Given the description of an element on the screen output the (x, y) to click on. 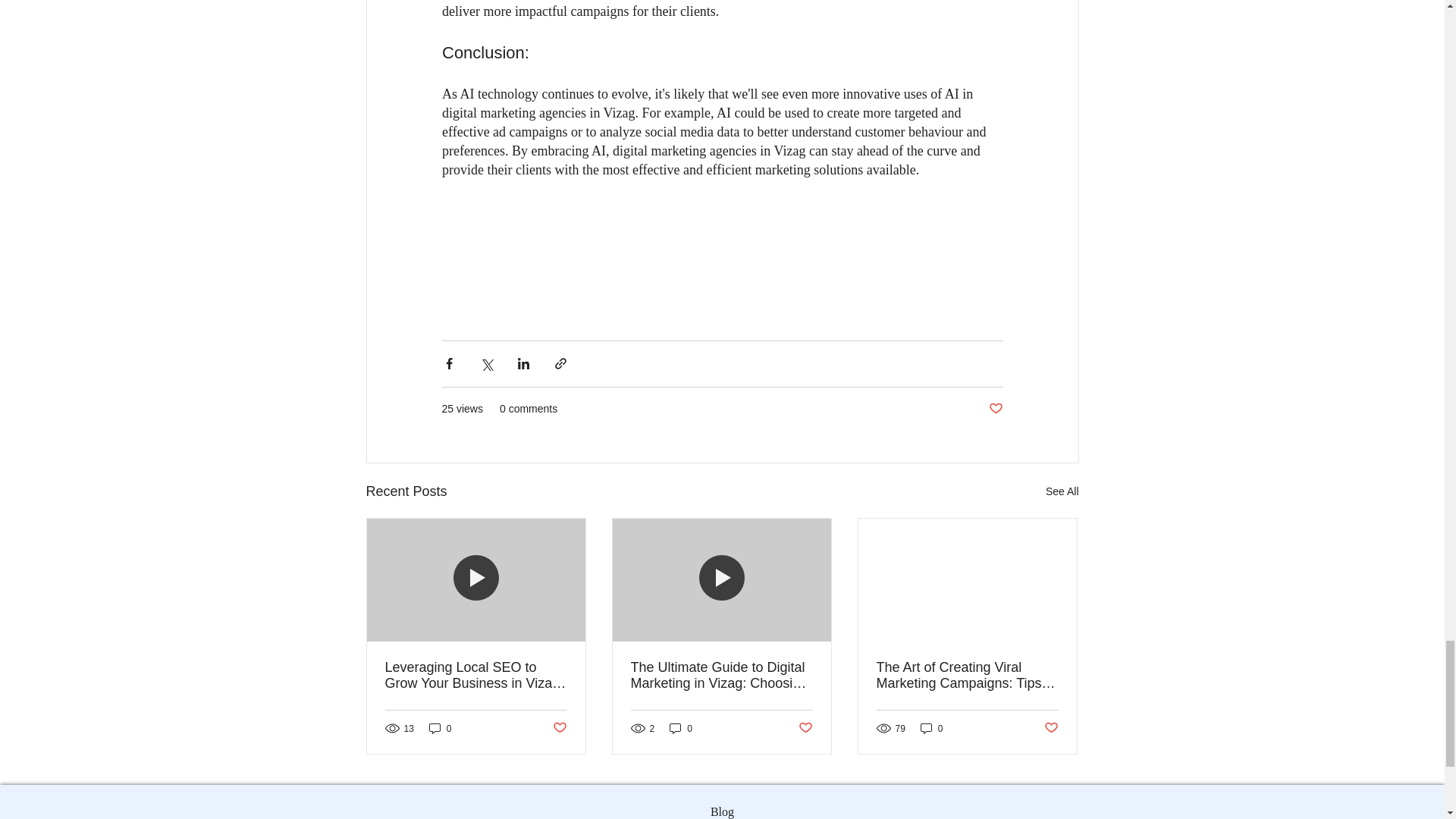
Blog (722, 808)
Post not marked as liked (1050, 728)
0 (440, 728)
Post not marked as liked (558, 728)
Post not marked as liked (995, 408)
0 (681, 728)
0 (931, 728)
See All (1061, 491)
Post not marked as liked (804, 728)
